Given the description of an element on the screen output the (x, y) to click on. 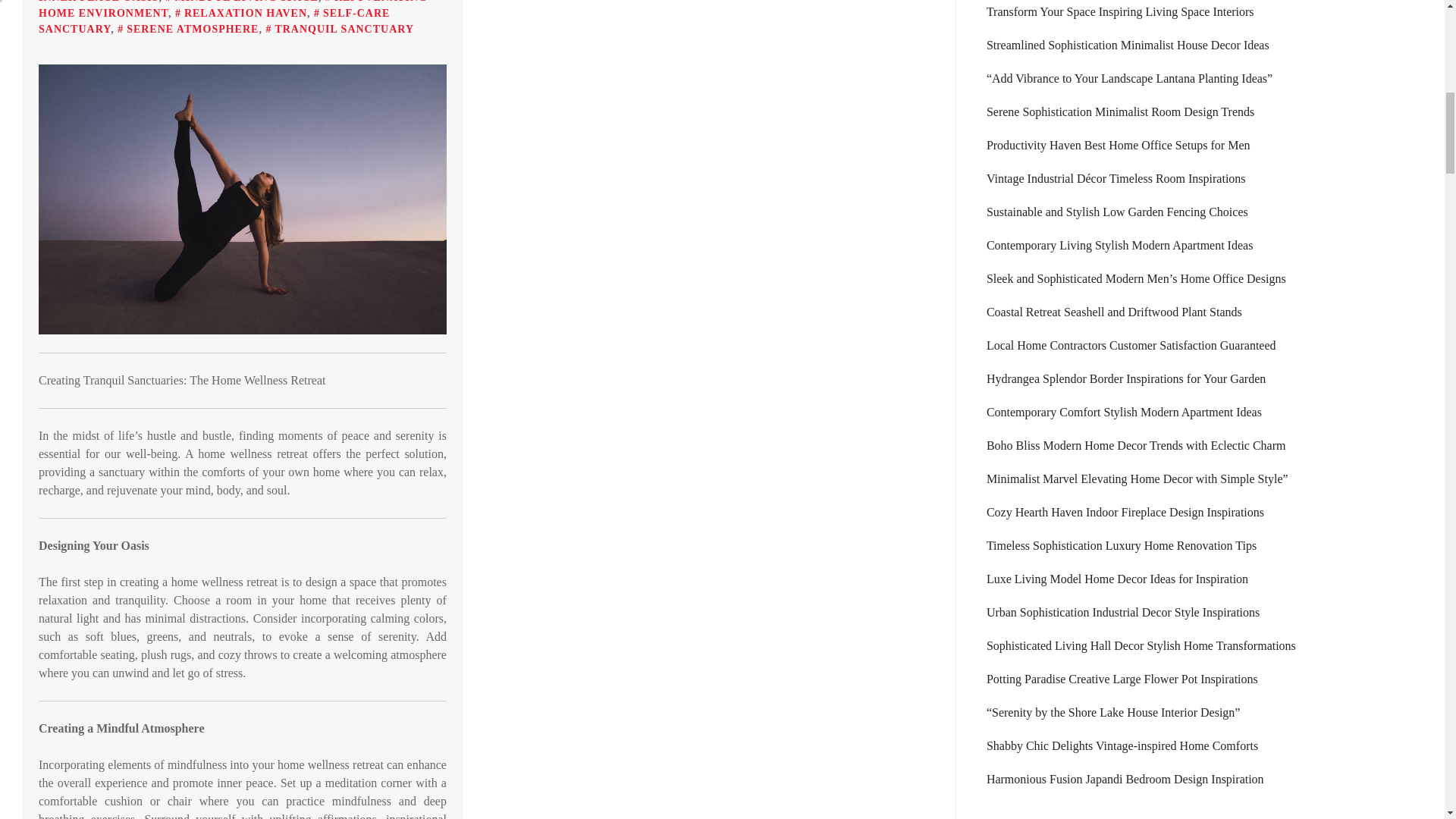
Home Wellness Retreat Creating Tranquil Sanctuaries (242, 199)
